Given the description of an element on the screen output the (x, y) to click on. 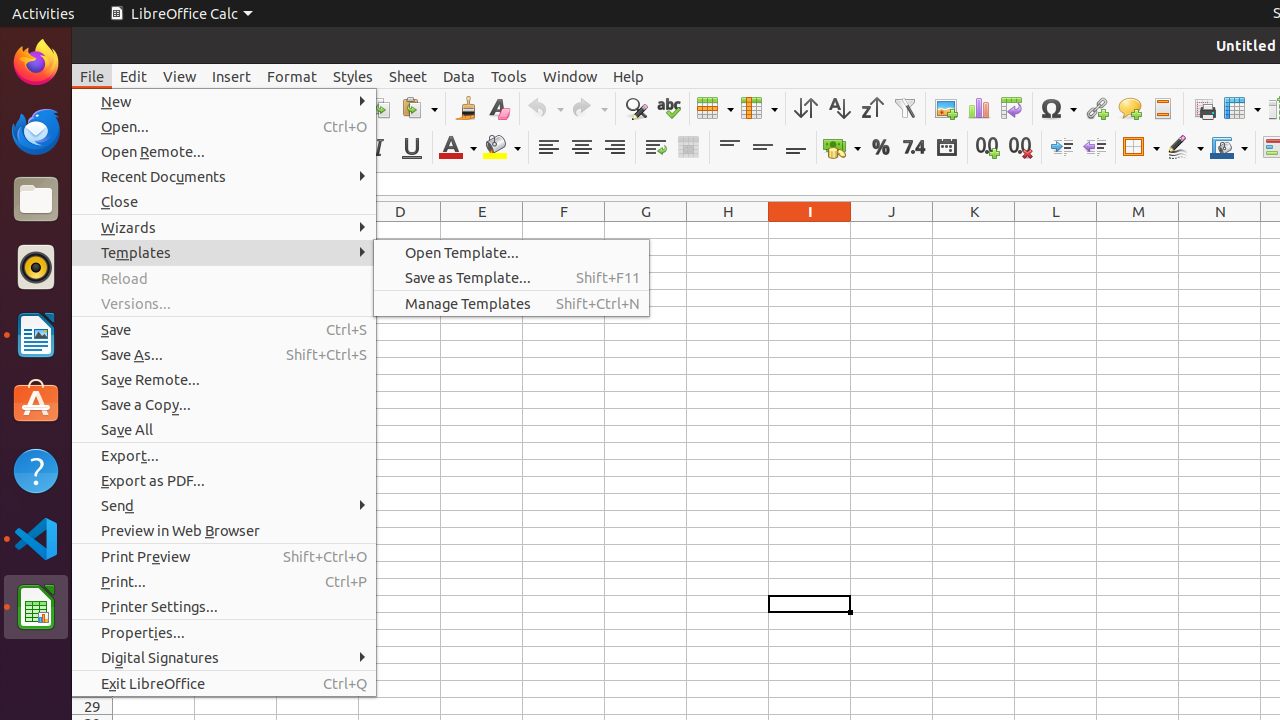
G1 Element type: table-cell (646, 230)
Clear Element type: push-button (498, 108)
Save As... Element type: menu-item (224, 354)
Decrease Element type: push-button (1094, 147)
Send Element type: menu (224, 505)
